Given the description of an element on the screen output the (x, y) to click on. 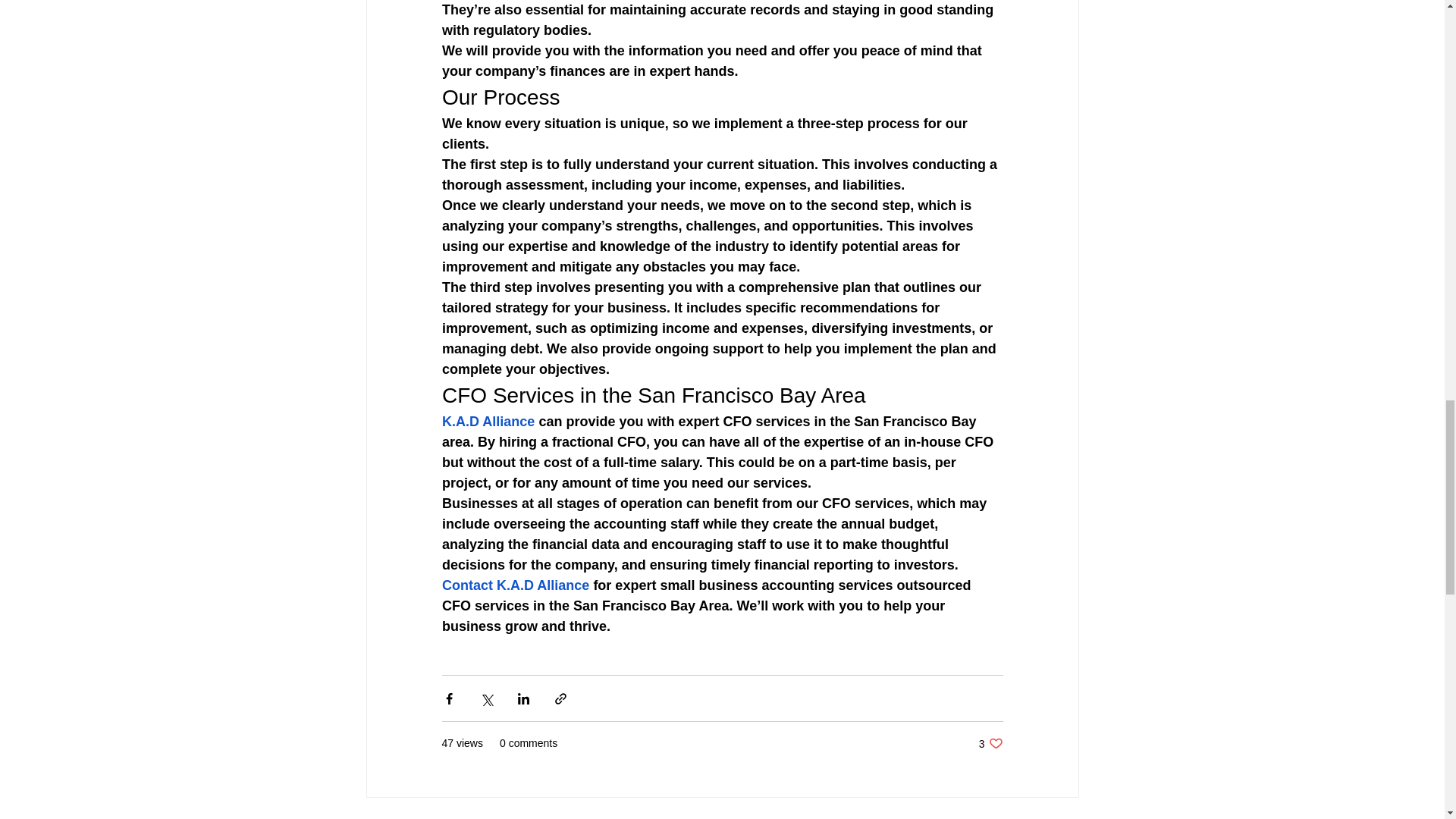
Contact K.A.D Alliance (514, 585)
K.A.D Alliance (487, 421)
See All (1061, 816)
